Given the description of an element on the screen output the (x, y) to click on. 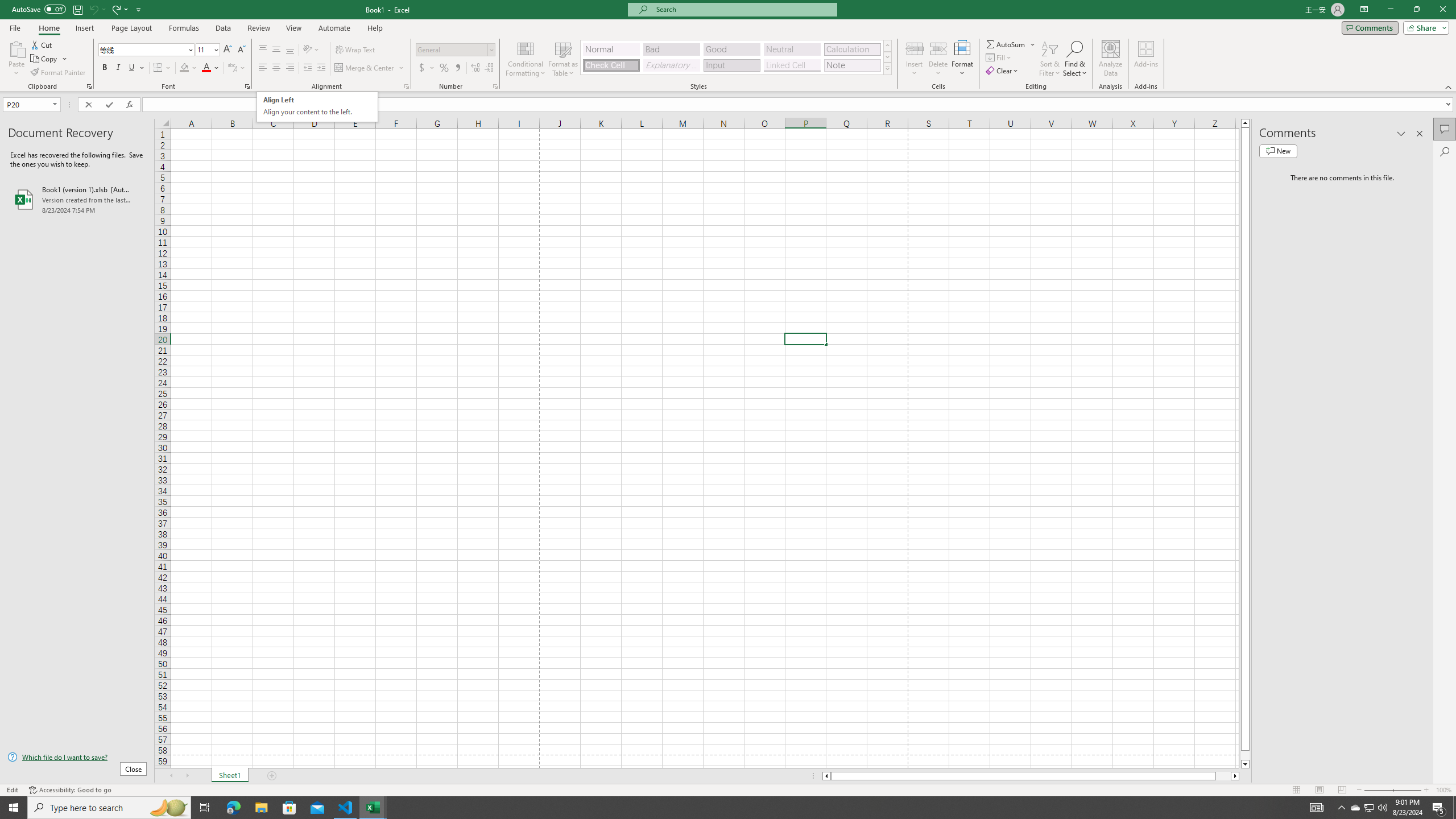
Font (147, 49)
Format as Table (563, 58)
Align Right (290, 67)
Increase Decimal (474, 67)
Cell Styles (887, 68)
Middle Align (276, 49)
Font Color (210, 67)
Close pane (1419, 133)
AutoSave (38, 9)
Show Phonetic Field (236, 67)
